Given the description of an element on the screen output the (x, y) to click on. 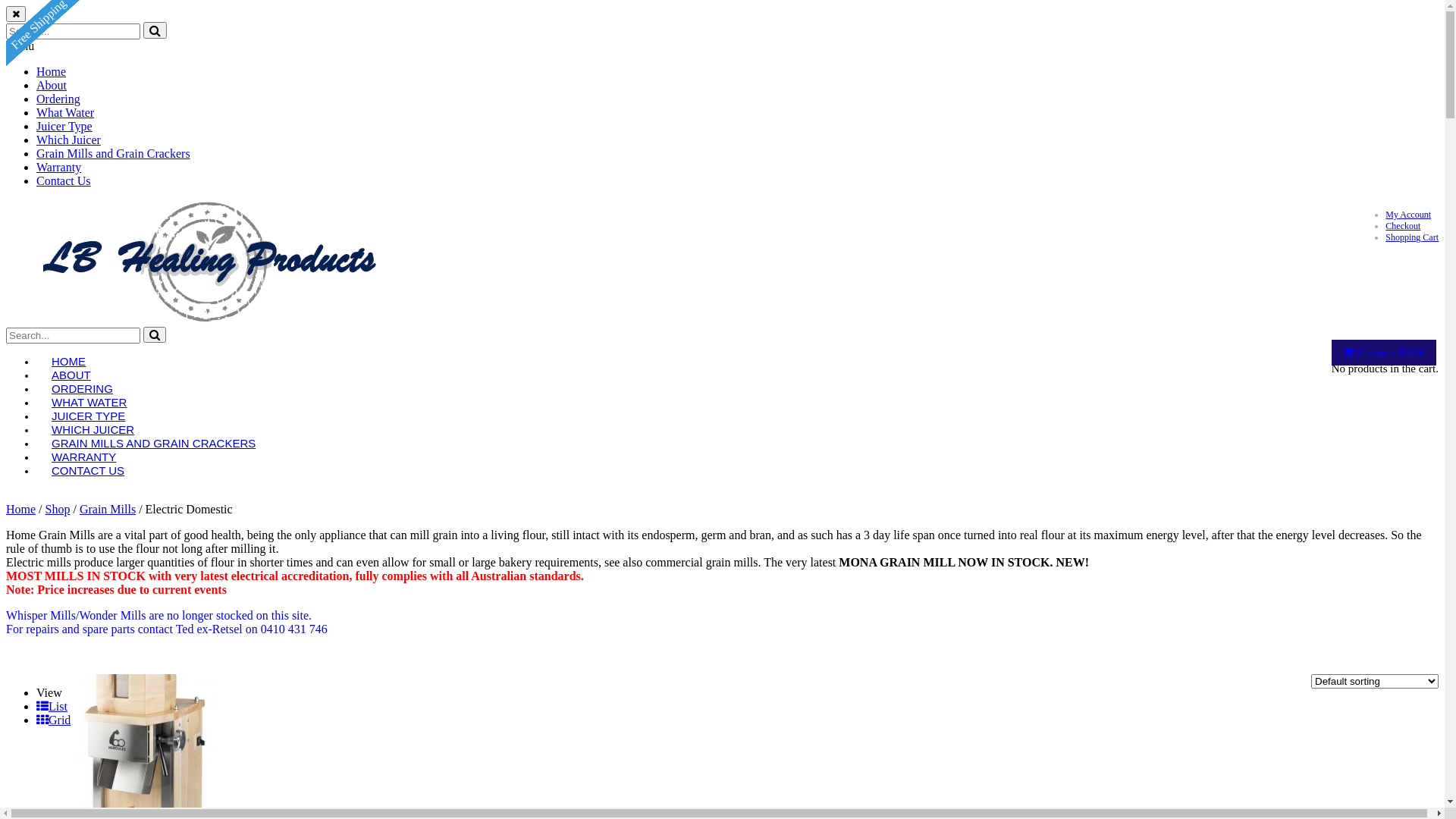
Home Element type: text (50, 71)
List Element type: text (51, 705)
Shop Element type: text (57, 508)
Home Element type: text (20, 508)
Grain Mills and Grain Crackers Element type: text (113, 153)
Grain Mills Element type: text (107, 508)
Which Juicer Element type: text (68, 139)
Contact Us Element type: text (63, 180)
WHICH JUICER Element type: text (92, 429)
Shopping Cart Element type: text (1411, 237)
JUICER TYPE Element type: text (88, 415)
Checkout Element type: text (1402, 225)
GRAIN MILLS AND GRAIN CRACKERS Element type: text (153, 442)
What Water Element type: text (65, 112)
WHAT WATER Element type: text (88, 401)
0 items - $0.00 Element type: text (1383, 352)
CONTACT US Element type: text (87, 470)
HOME Element type: text (68, 360)
WARRANTY Element type: text (83, 456)
ABOUT Element type: text (71, 374)
Grid Element type: text (53, 719)
ORDERING Element type: text (82, 388)
Juicer Type Element type: text (64, 125)
About Element type: text (51, 84)
My Account Element type: text (1407, 214)
Warranty Element type: text (58, 166)
Ordering Element type: text (58, 98)
